Given the description of an element on the screen output the (x, y) to click on. 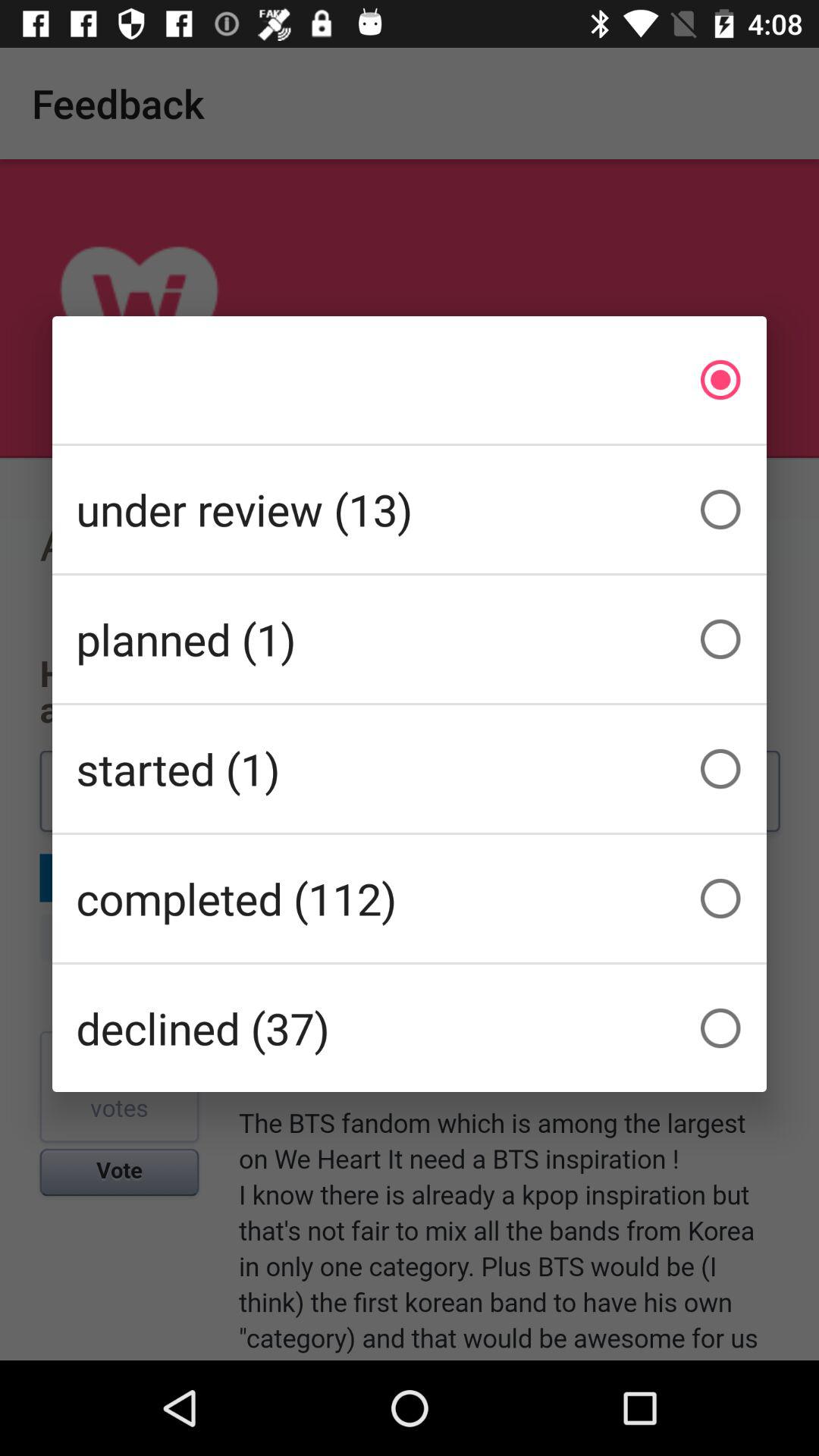
open the item above the completed (112) (409, 768)
